Given the description of an element on the screen output the (x, y) to click on. 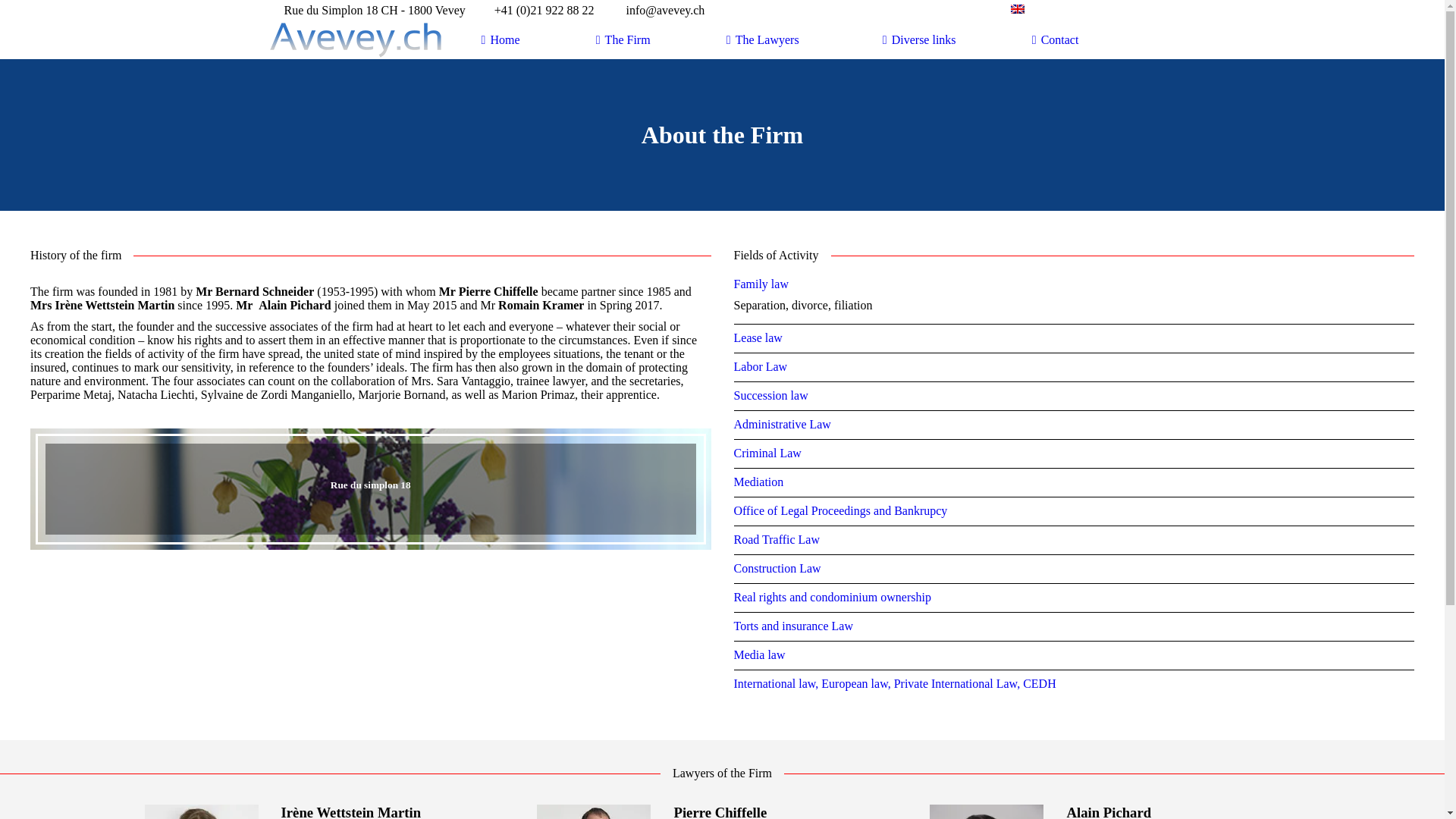
Mediation Element type: text (1074, 482)
Administrative Law Element type: text (1074, 424)
The Firm Element type: text (623, 40)
Family law Element type: text (1074, 284)
Media law Element type: text (1074, 655)
Road Traffic Law Element type: text (1074, 539)
Home Element type: text (500, 40)
Office of Legal Proceedings and Bankrupcy Element type: text (1074, 510)
Construction Law Element type: text (1074, 568)
Lease law Element type: text (1074, 338)
Succession law Element type: text (1074, 395)
English Element type: text (1060, 10)
Torts and insurance Law Element type: text (1074, 626)
Real rights and condominium ownership Element type: text (1074, 597)
Contact Element type: text (1055, 40)
Criminal Law Element type: text (1074, 453)
Labor Law Element type: text (1074, 366)
The Lawyers Element type: text (766, 40)
Diverse links Element type: text (919, 40)
English Element type: hover (1017, 8)
